Given the description of an element on the screen output the (x, y) to click on. 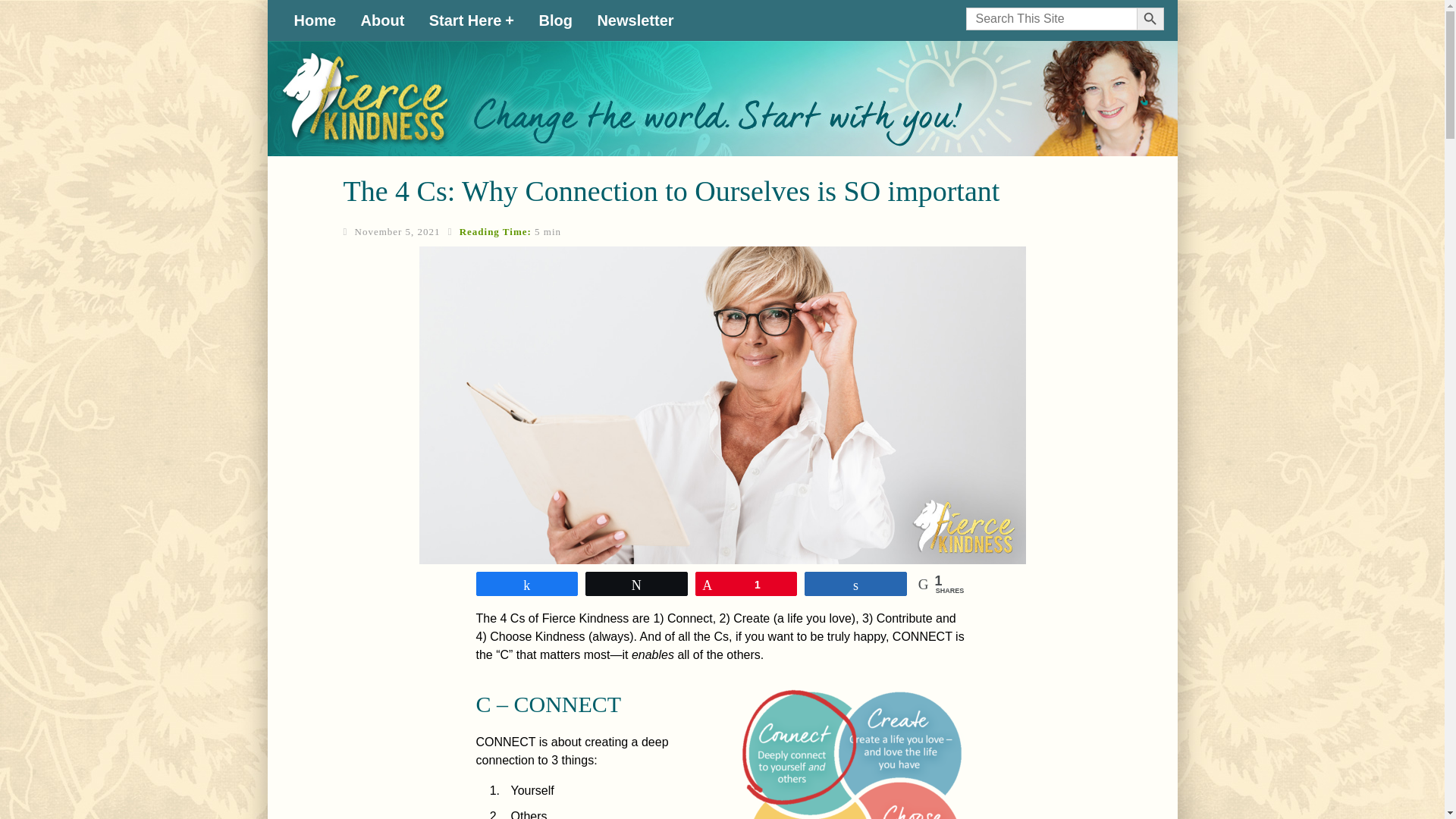
About (382, 20)
Start Here (471, 20)
1 (745, 583)
Blog (555, 20)
Search Button (1149, 18)
Newsletter (634, 20)
Home (314, 20)
